Given the description of an element on the screen output the (x, y) to click on. 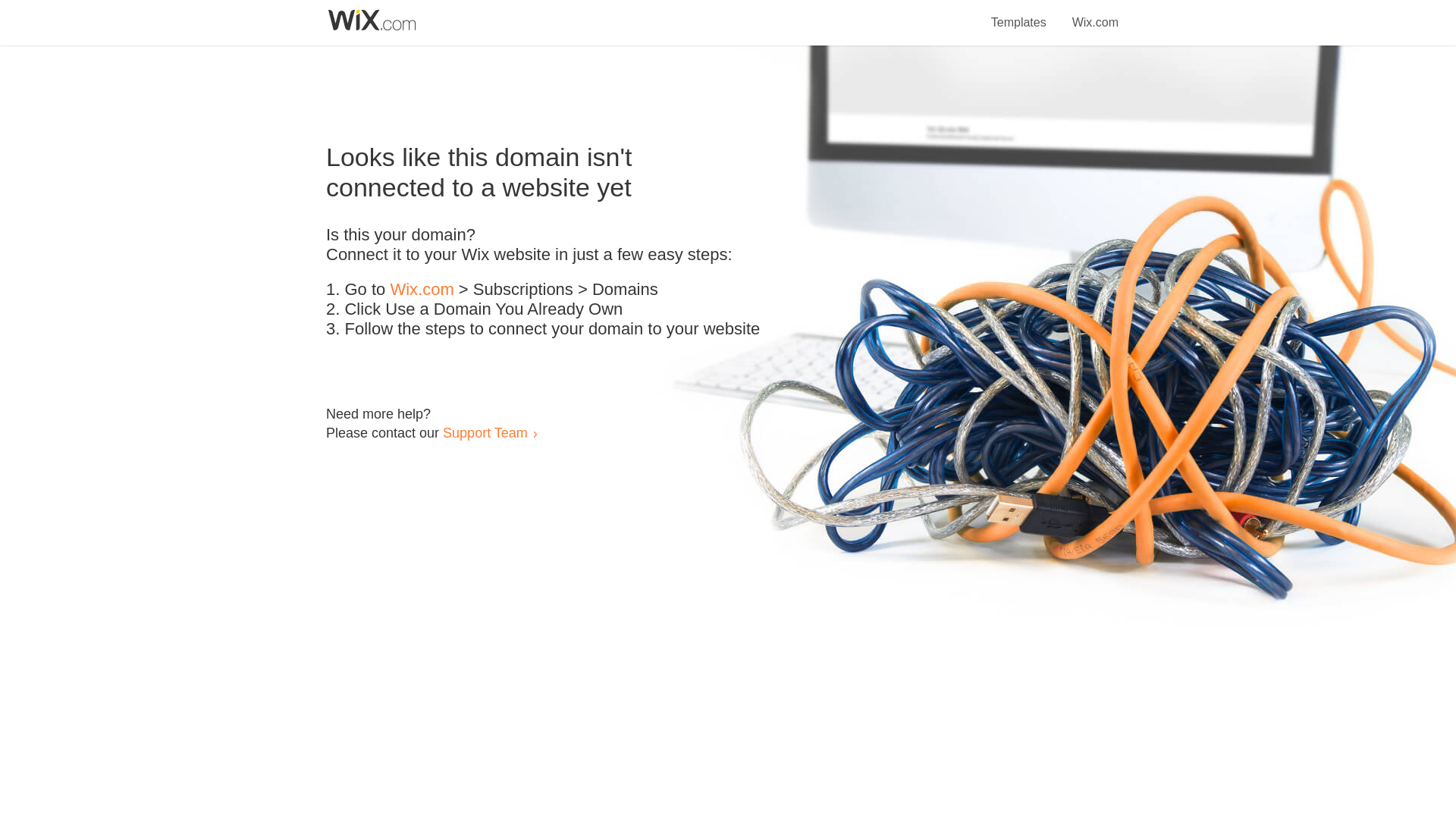
Wix.com (1095, 14)
Support Team (484, 432)
Wix.com (421, 289)
Templates (1018, 14)
